Given the description of an element on the screen output the (x, y) to click on. 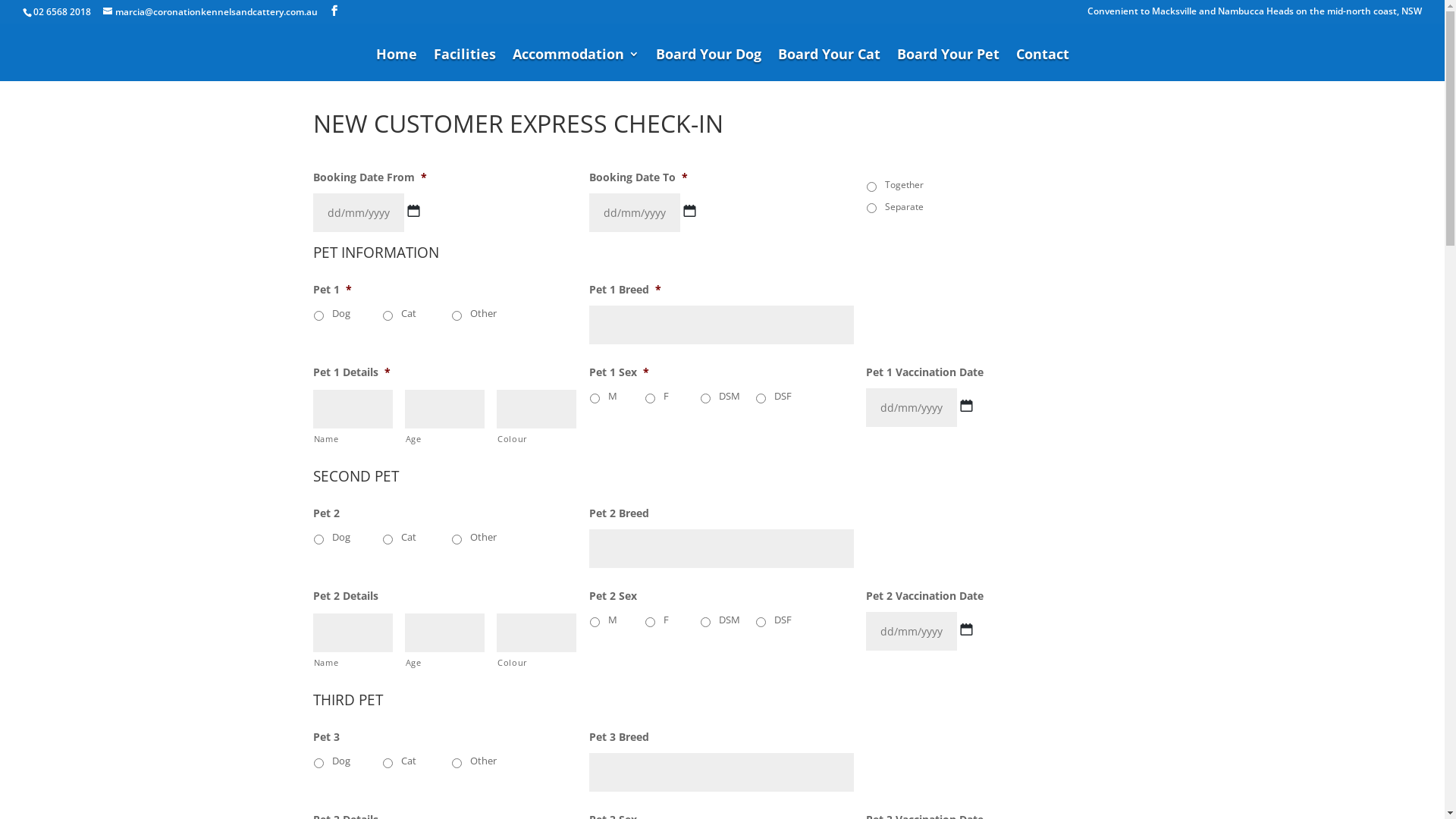
Select date Element type: hover (966, 405)
Select date Element type: hover (412, 210)
marcia@coronationkennelsandcattery.com.au Element type: text (210, 11)
Board Your Dog Element type: text (707, 64)
Select date Element type: hover (966, 629)
Facilities Element type: text (464, 64)
Select date Element type: hover (689, 210)
Board Your Cat Element type: text (829, 64)
Accommodation Element type: text (575, 64)
Home Element type: text (396, 64)
Contact Element type: text (1042, 64)
Board Your Pet Element type: text (947, 64)
